Given the description of an element on the screen output the (x, y) to click on. 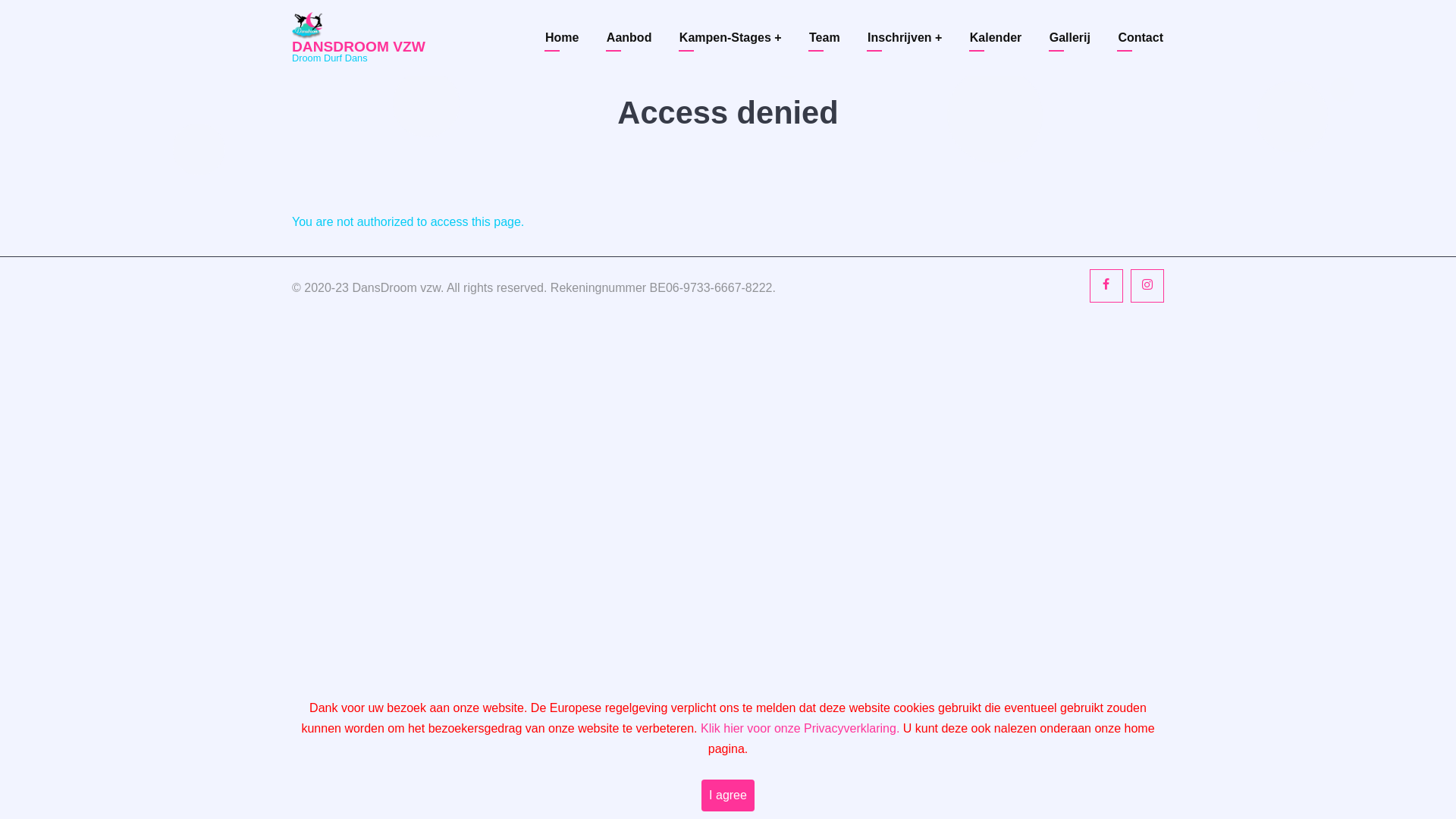
Aanbod Element type: text (628, 37)
Home Element type: hover (306, 24)
Gallerij Element type: text (1069, 37)
DANSDROOM VZW Element type: text (358, 46)
Kalender Element type: text (995, 37)
Kampen-Stages + Element type: text (730, 37)
Home Element type: text (561, 37)
Skip to main content Element type: text (0, 0)
Contact Element type: text (1140, 37)
Team Element type: text (824, 37)
I agree Element type: text (727, 795)
Klik hier voor onze Privacyverklaring. Element type: text (799, 727)
Inschrijven + Element type: text (904, 37)
